Given the description of an element on the screen output the (x, y) to click on. 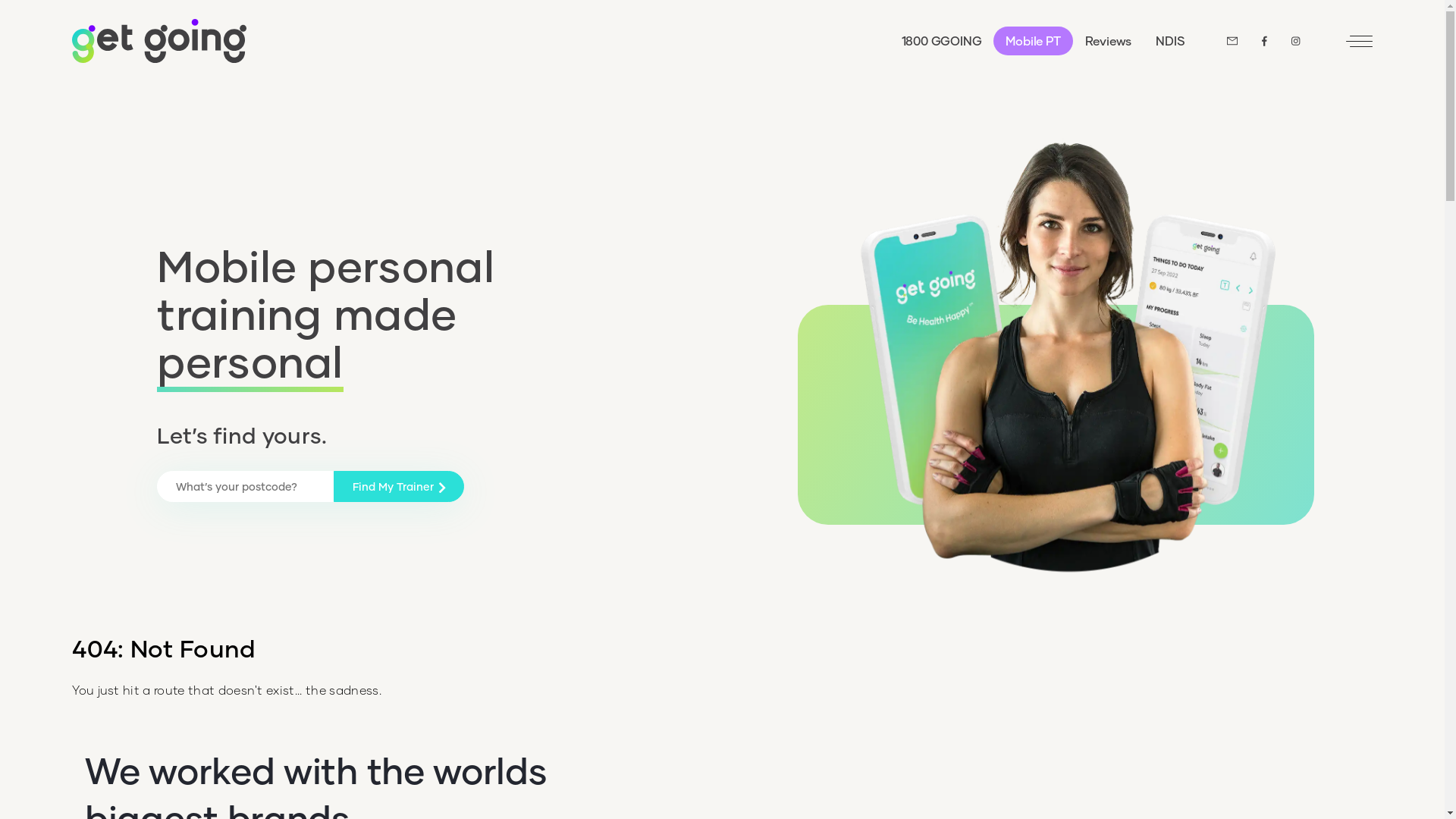
Reviews Element type: text (1108, 40)
Find My Trainer Element type: text (398, 486)
1800 GGOING Element type: text (941, 40)
Mobile PT Element type: text (1032, 40)
NDIS Element type: text (1169, 40)
